Given the description of an element on the screen output the (x, y) to click on. 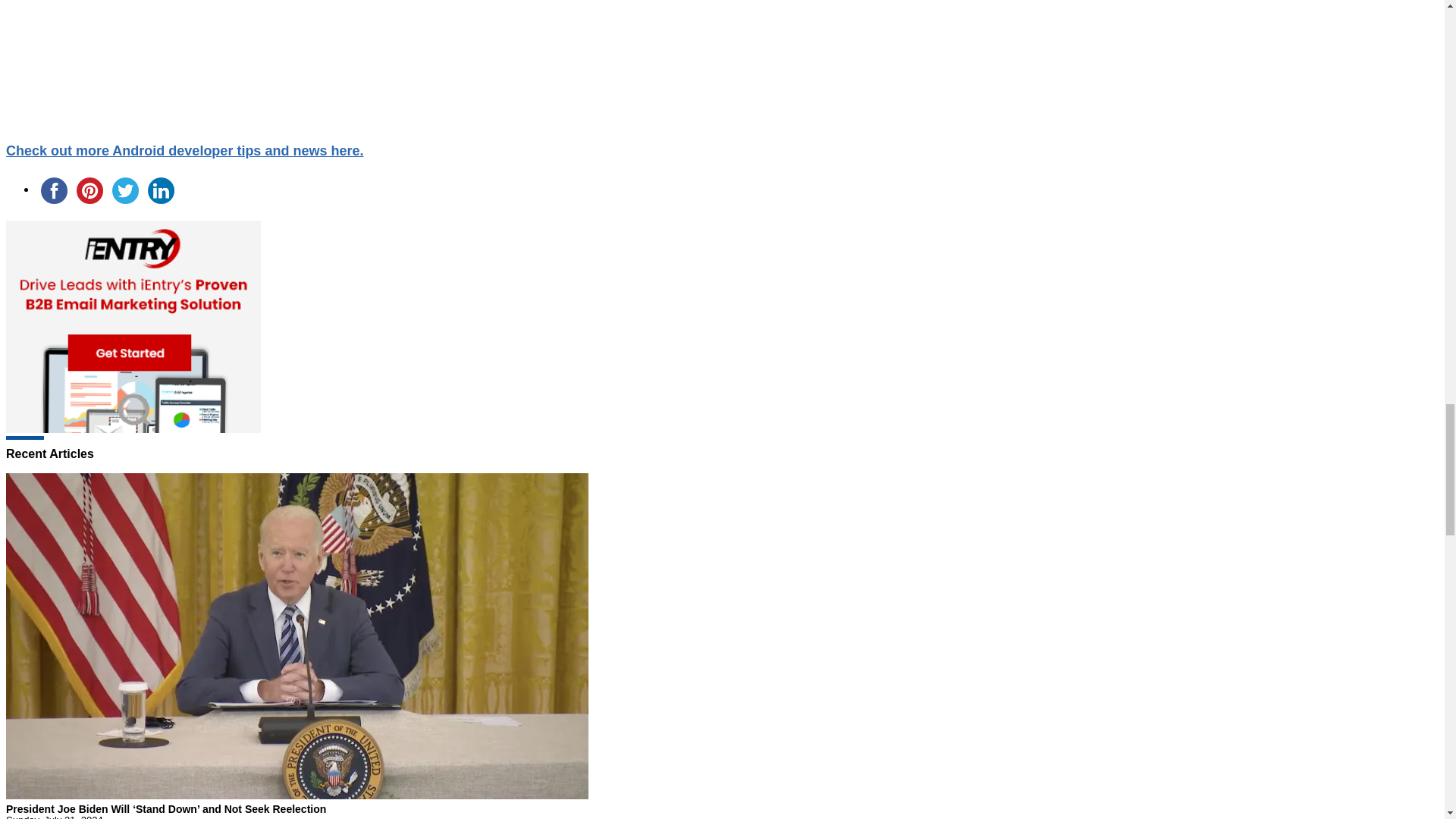
pinterest (89, 190)
facebook (53, 190)
twitter (124, 190)
